Given the description of an element on the screen output the (x, y) to click on. 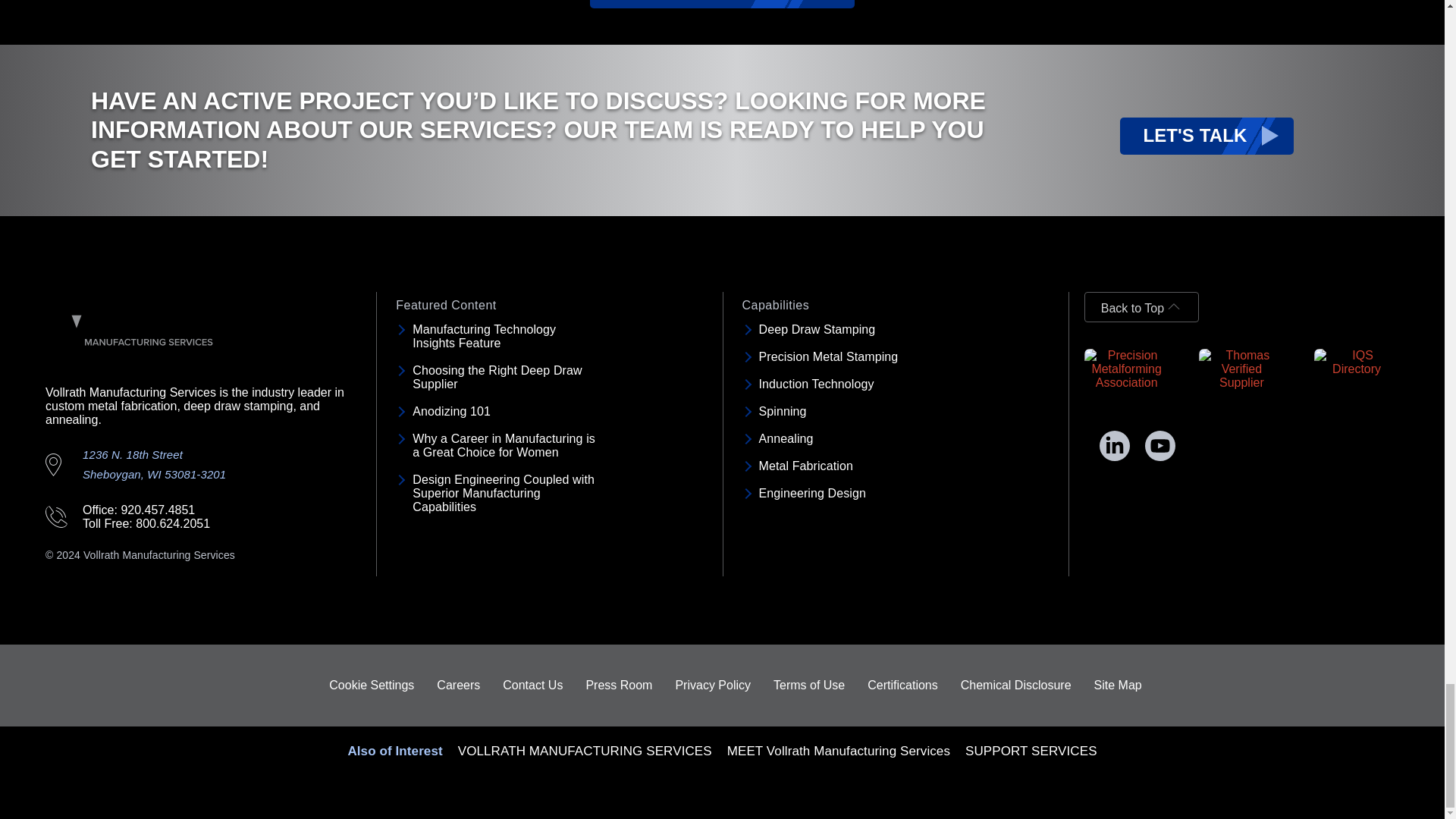
Back to Top (1141, 306)
IQS Directory (1356, 361)
Thomas Verified Supplier (1241, 368)
Precision Metalforming Association (1126, 368)
